Given the description of an element on the screen output the (x, y) to click on. 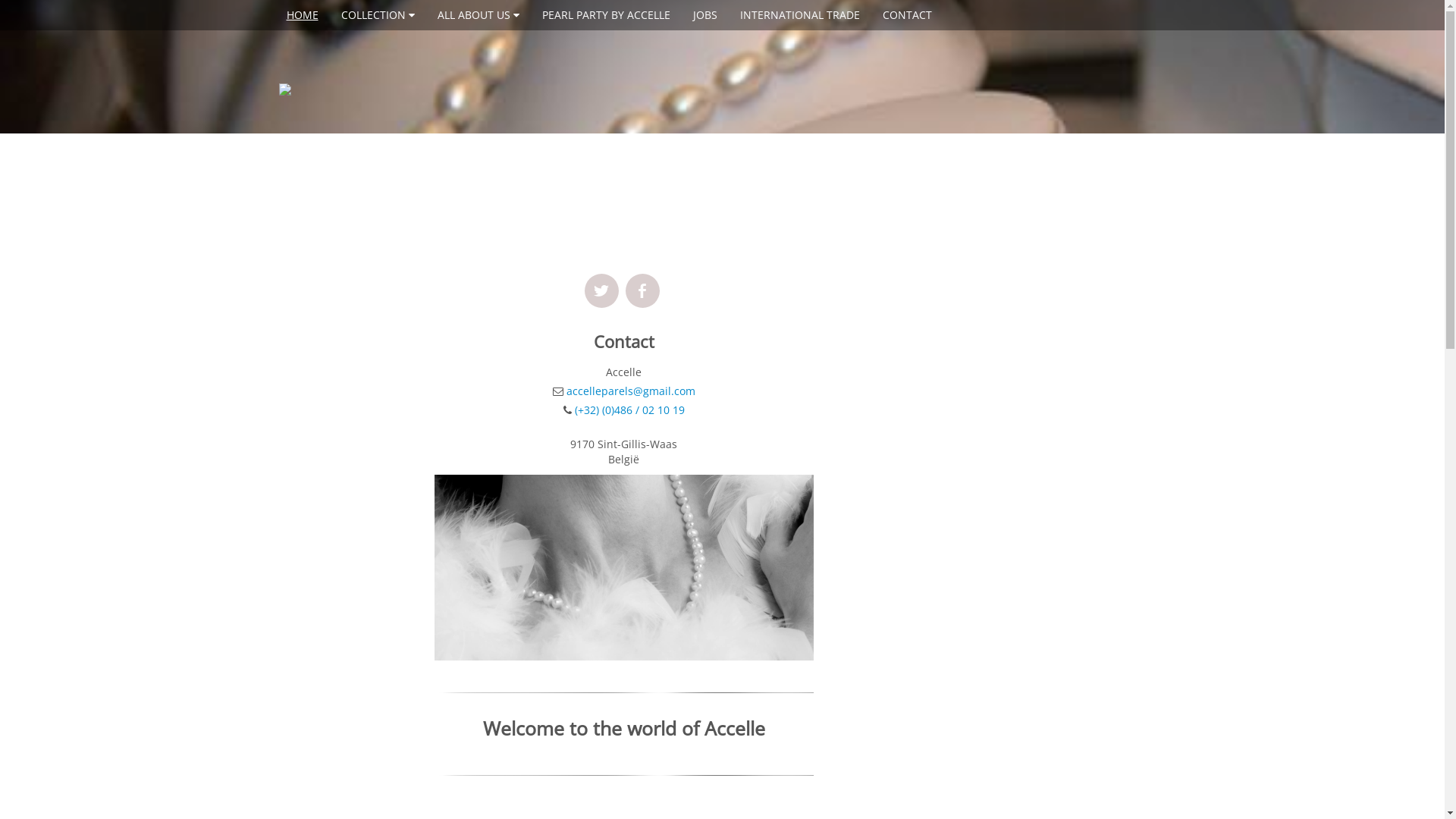
JOBS Element type: text (704, 15)
accelleparels@gmail.com Element type: text (630, 390)
PEARL PARTY BY ACCELLE Element type: text (605, 15)
HOME Element type: text (302, 15)
ALL ABOUT US Element type: text (477, 15)
(+32) (0)486 / 02 10 19 Element type: text (629, 409)
a Element type: text (601, 290)
b Element type: text (642, 290)
CONTACT Element type: text (907, 15)
COLLECTION Element type: text (377, 15)
INTERNATIONAL TRADE Element type: text (799, 15)
